Given the description of an element on the screen output the (x, y) to click on. 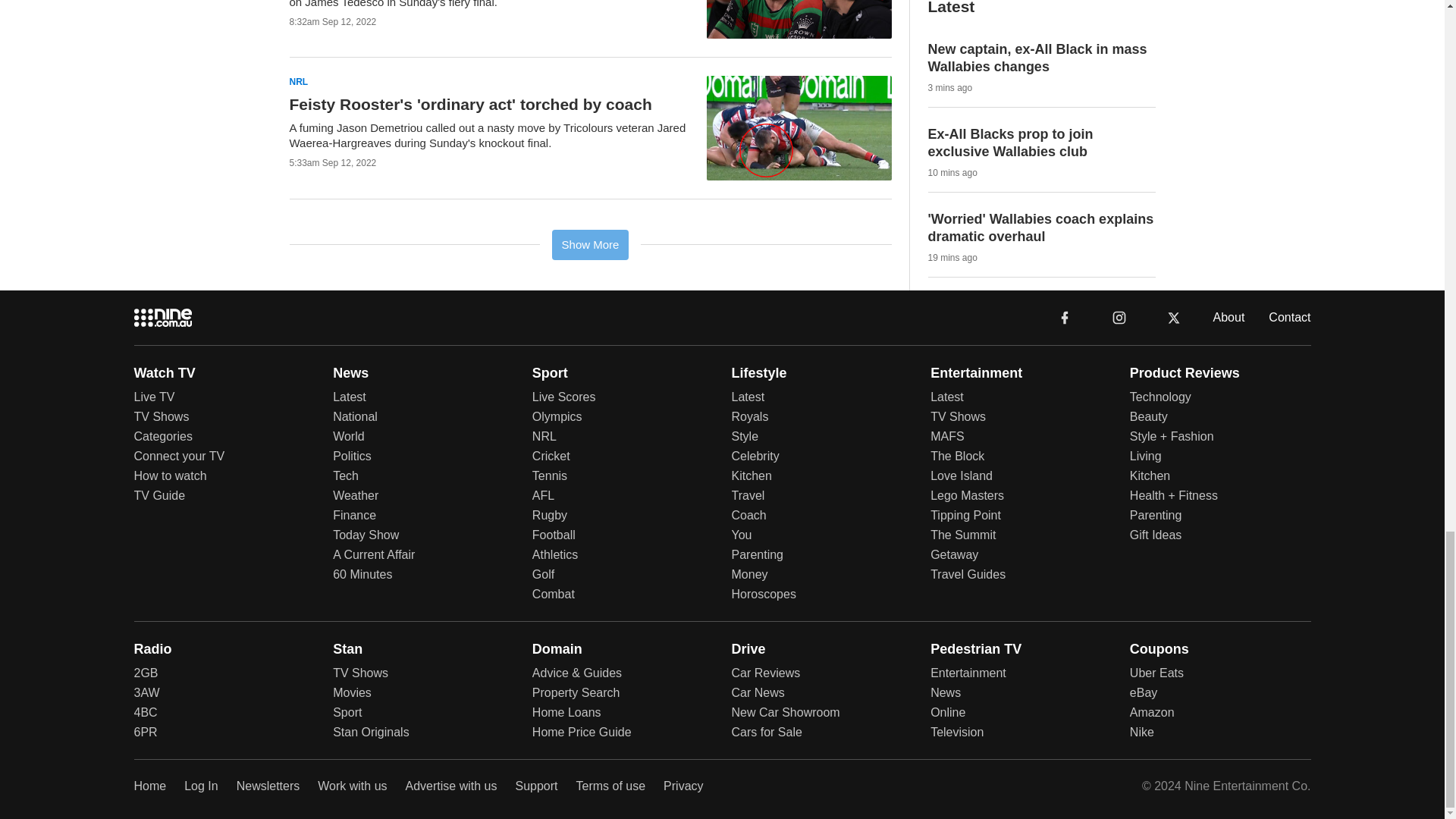
instagram (1119, 317)
facebook (1064, 316)
x (1173, 317)
x (1173, 316)
instagram (1118, 316)
facebook (1064, 317)
